Given the description of an element on the screen output the (x, y) to click on. 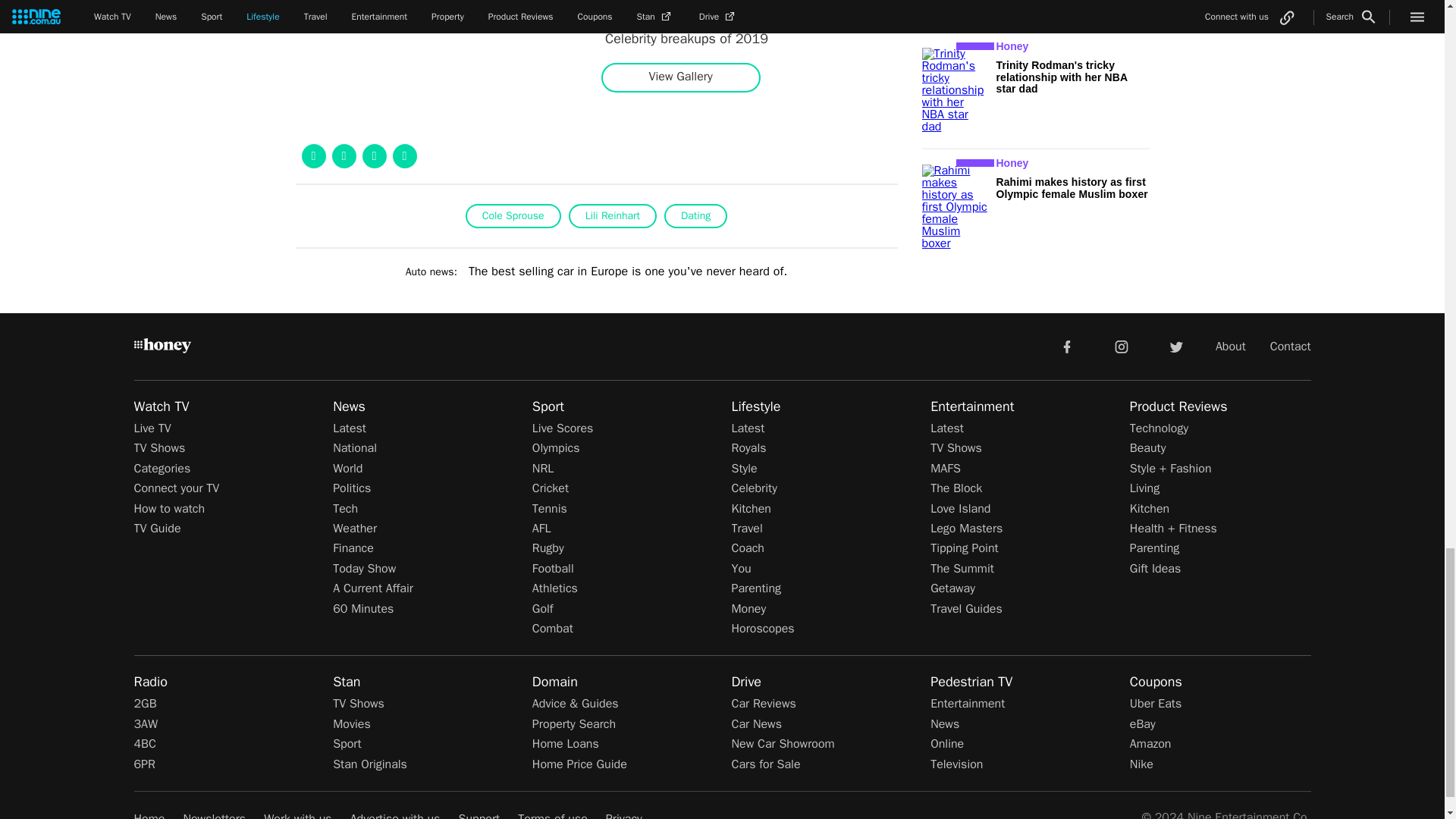
instagram (1121, 345)
facebook (1066, 345)
twitter (1175, 345)
